Given the description of an element on the screen output the (x, y) to click on. 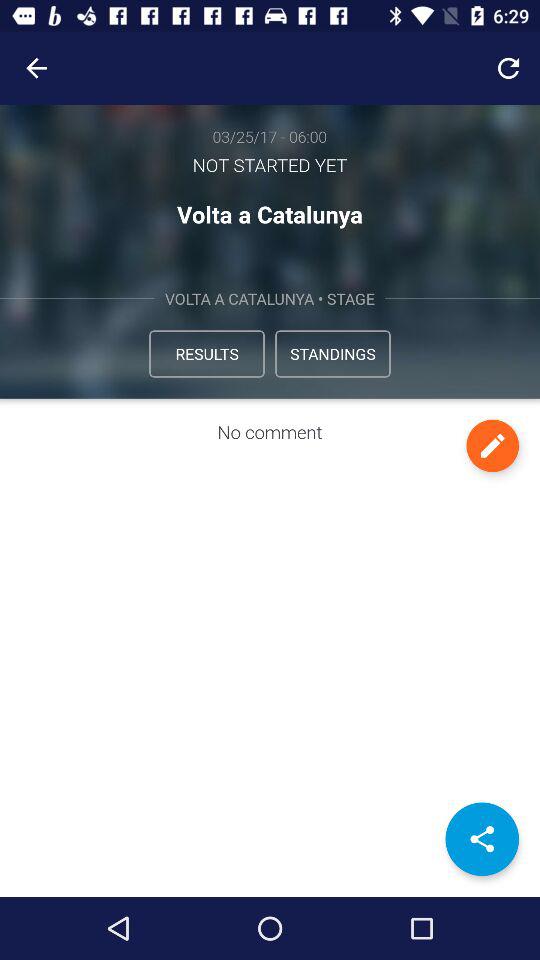
launch the item to the left of the standings icon (206, 353)
